Given the description of an element on the screen output the (x, y) to click on. 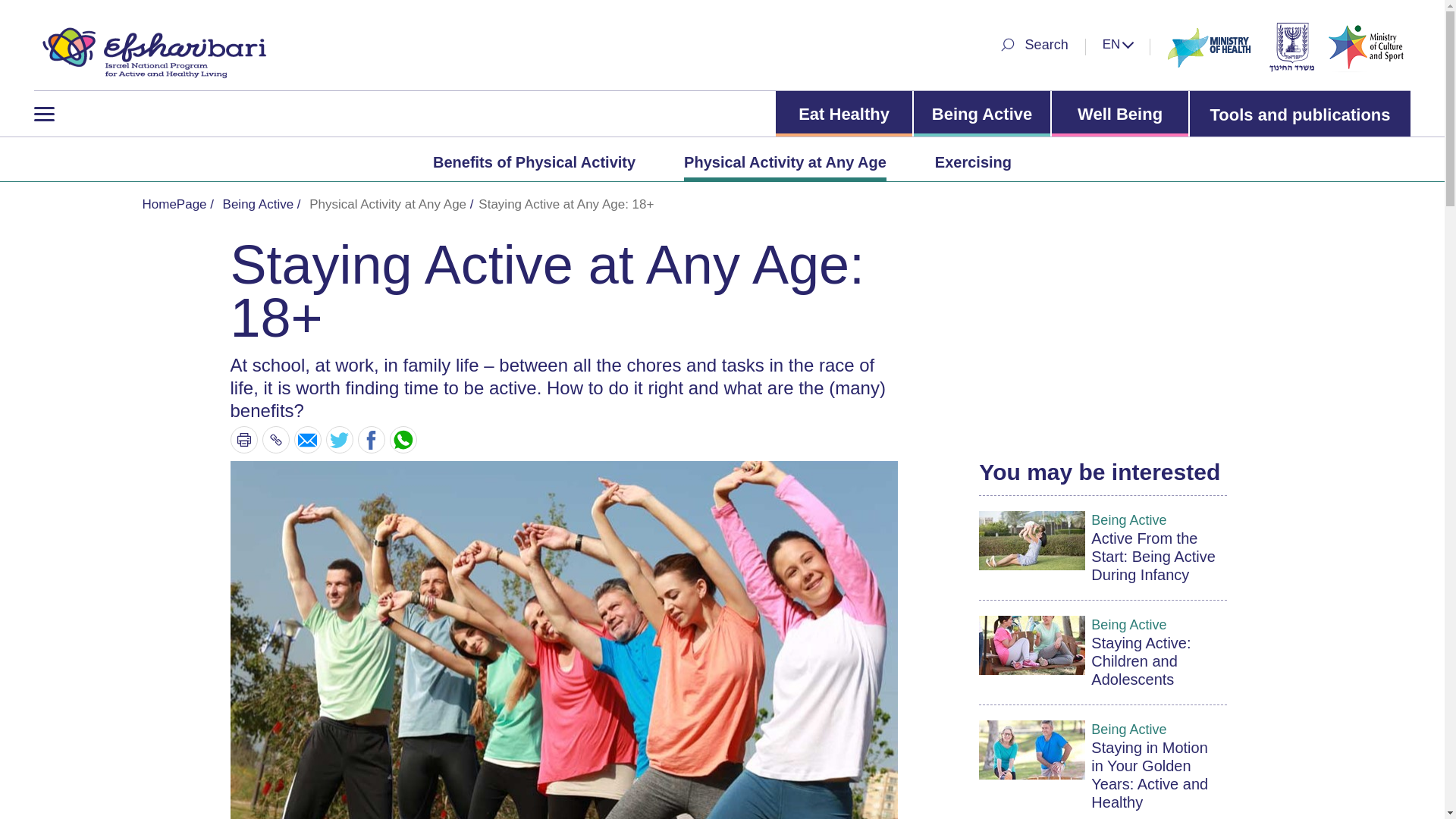
Search (1032, 44)
Well Being (1119, 113)
Physical Activity at Any Age (785, 161)
Benefits of Physical Activity (534, 161)
HomePage (149, 47)
Tools and publications (1299, 113)
EN (1118, 43)
Ministry of Education (1291, 46)
Share by email (307, 439)
Ministry of Culture and Sports (1368, 46)
